Given the description of an element on the screen output the (x, y) to click on. 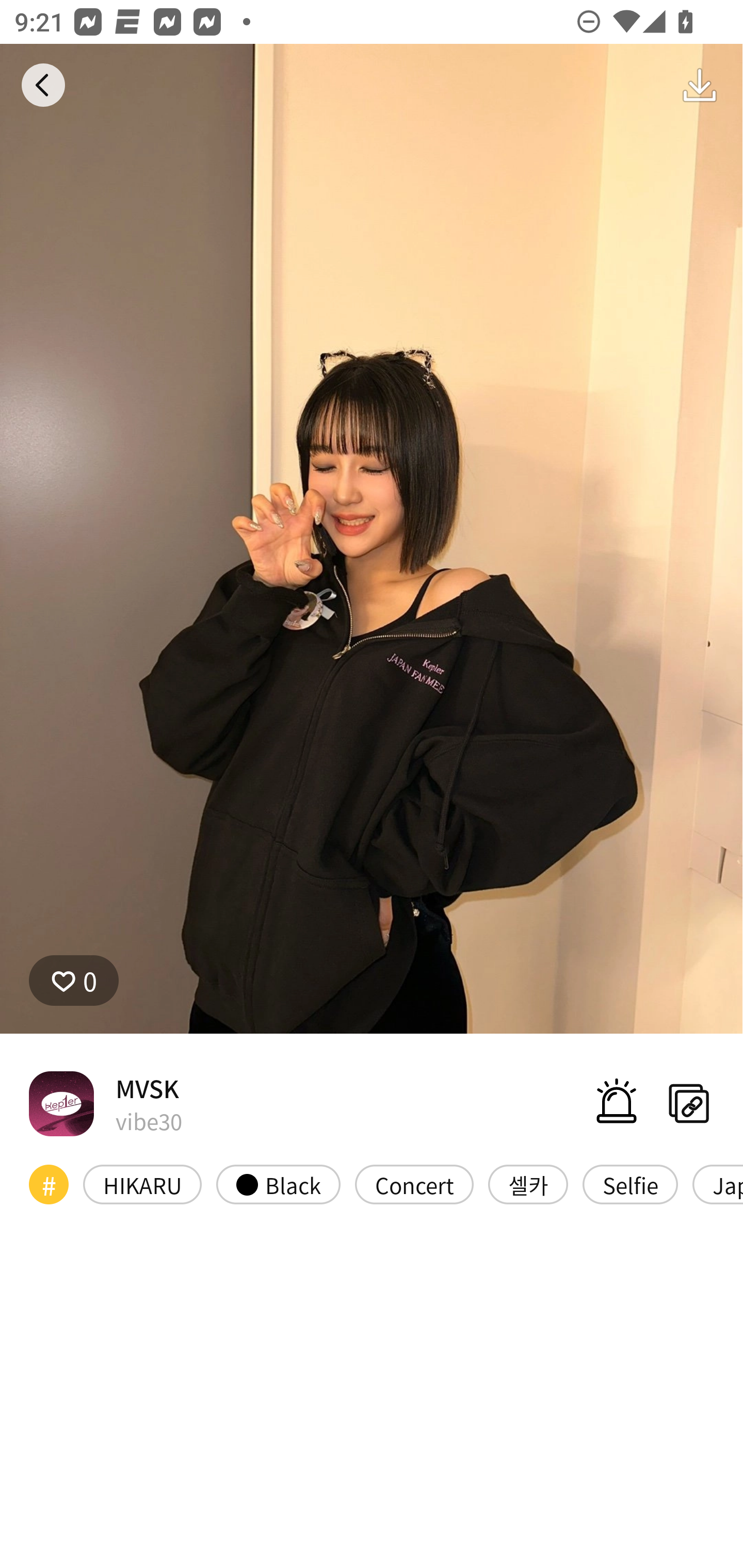
0 (73, 980)
MVSK vibe30 (105, 1102)
HIKARU (142, 1184)
Black (278, 1184)
Concert (414, 1184)
셀카 (528, 1184)
Selfie (629, 1184)
